Given the description of an element on the screen output the (x, y) to click on. 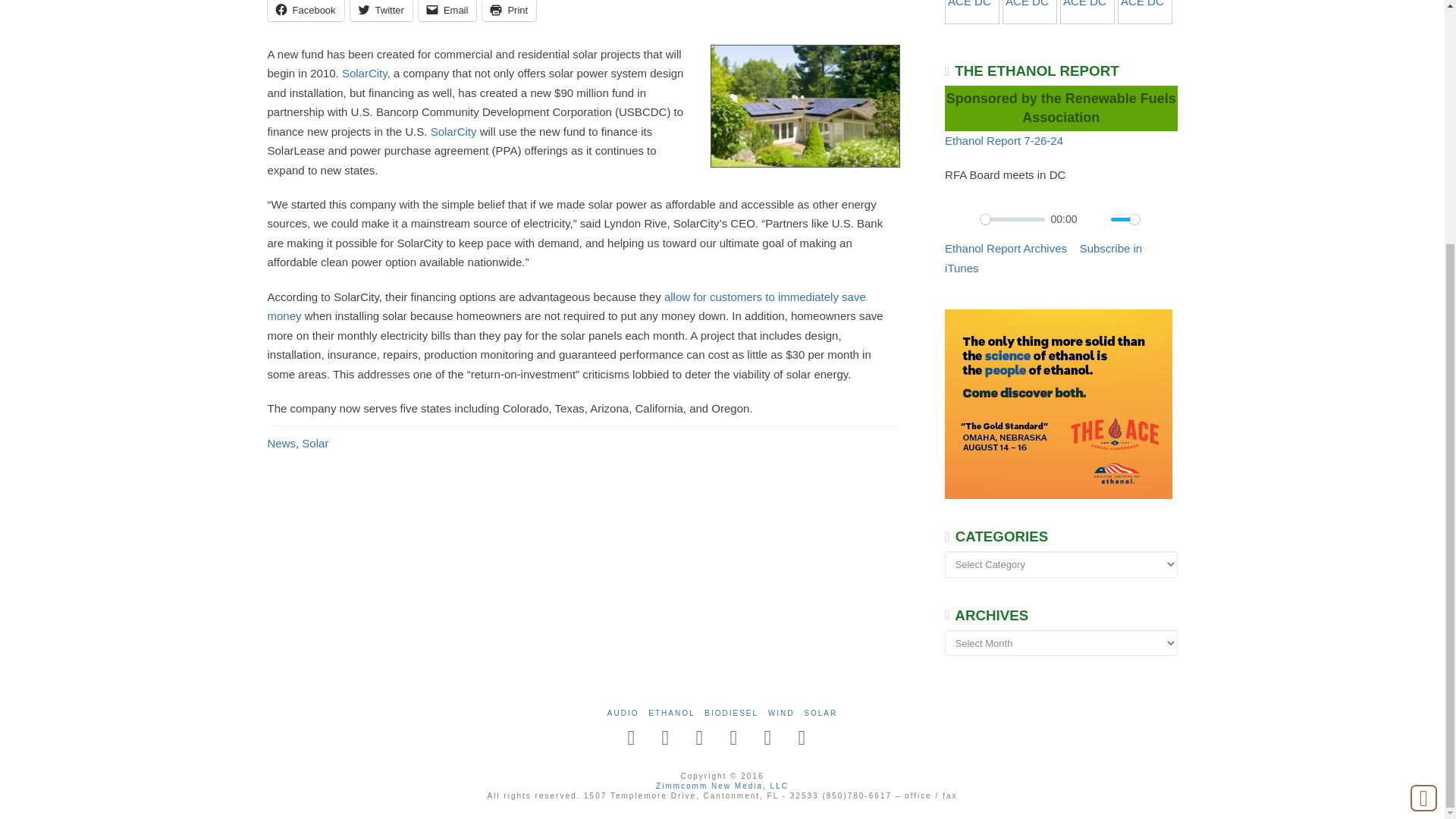
Click to share on Facebook (304, 10)
Print (508, 10)
Solar (315, 442)
SolarCity (455, 131)
0 (1012, 219)
Click to print (508, 10)
SolarCity, (366, 72)
Twitter (381, 10)
1 (1125, 219)
Click to share on Twitter (381, 10)
Ethanol Report 7-26-24 (1003, 140)
Email (448, 10)
News (280, 442)
Facebook (304, 10)
Click to email a link to a friend (448, 10)
